Given the description of an element on the screen output the (x, y) to click on. 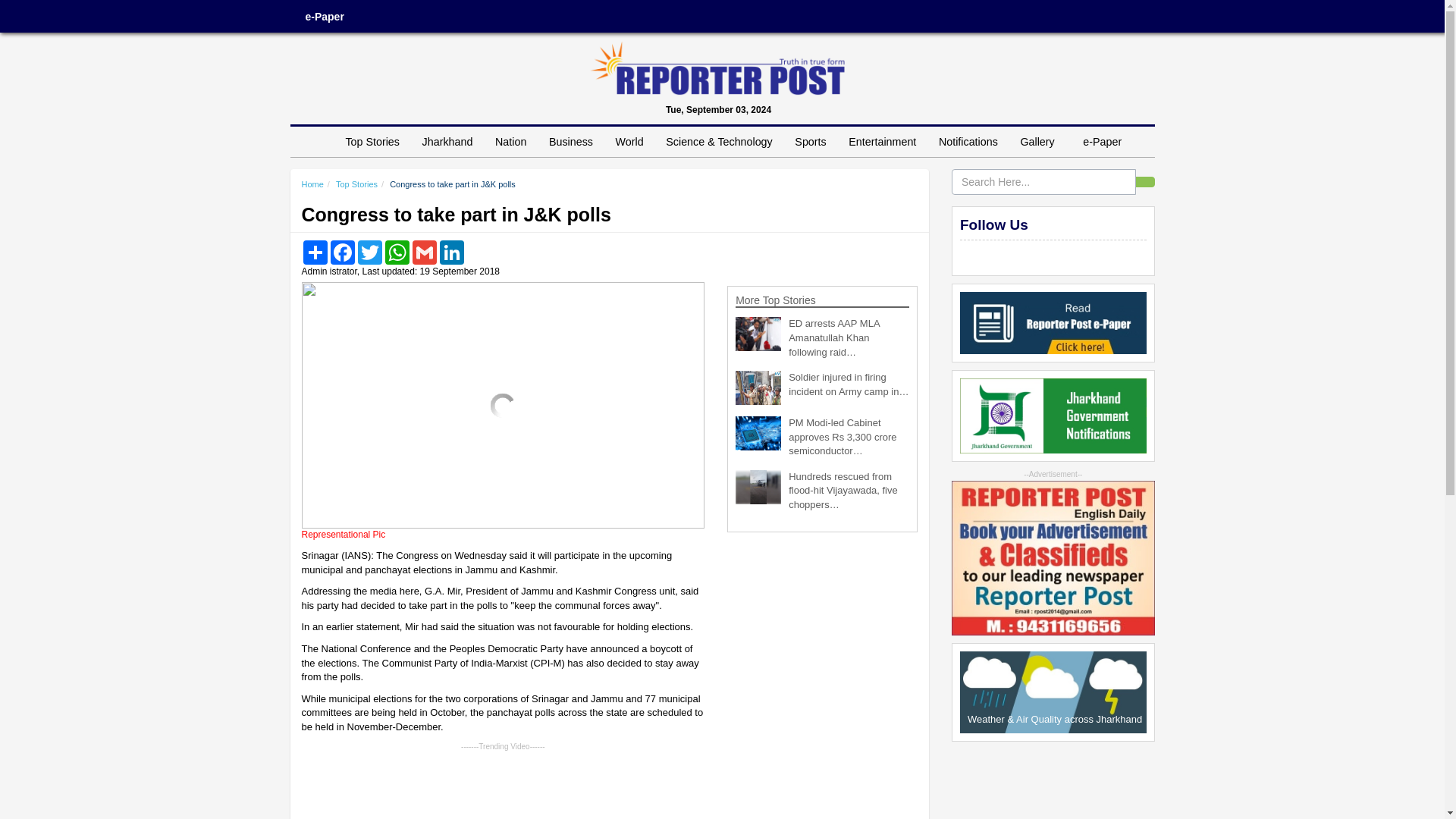
World (629, 141)
Read Reporter Post ePaper (1053, 322)
e-Paper (323, 16)
Jharkhand (447, 141)
Sports (809, 141)
Notifications (967, 141)
e-Paper (1102, 141)
Reporter Post (717, 68)
Nation (509, 141)
Top Stories (371, 141)
